Given the description of an element on the screen output the (x, y) to click on. 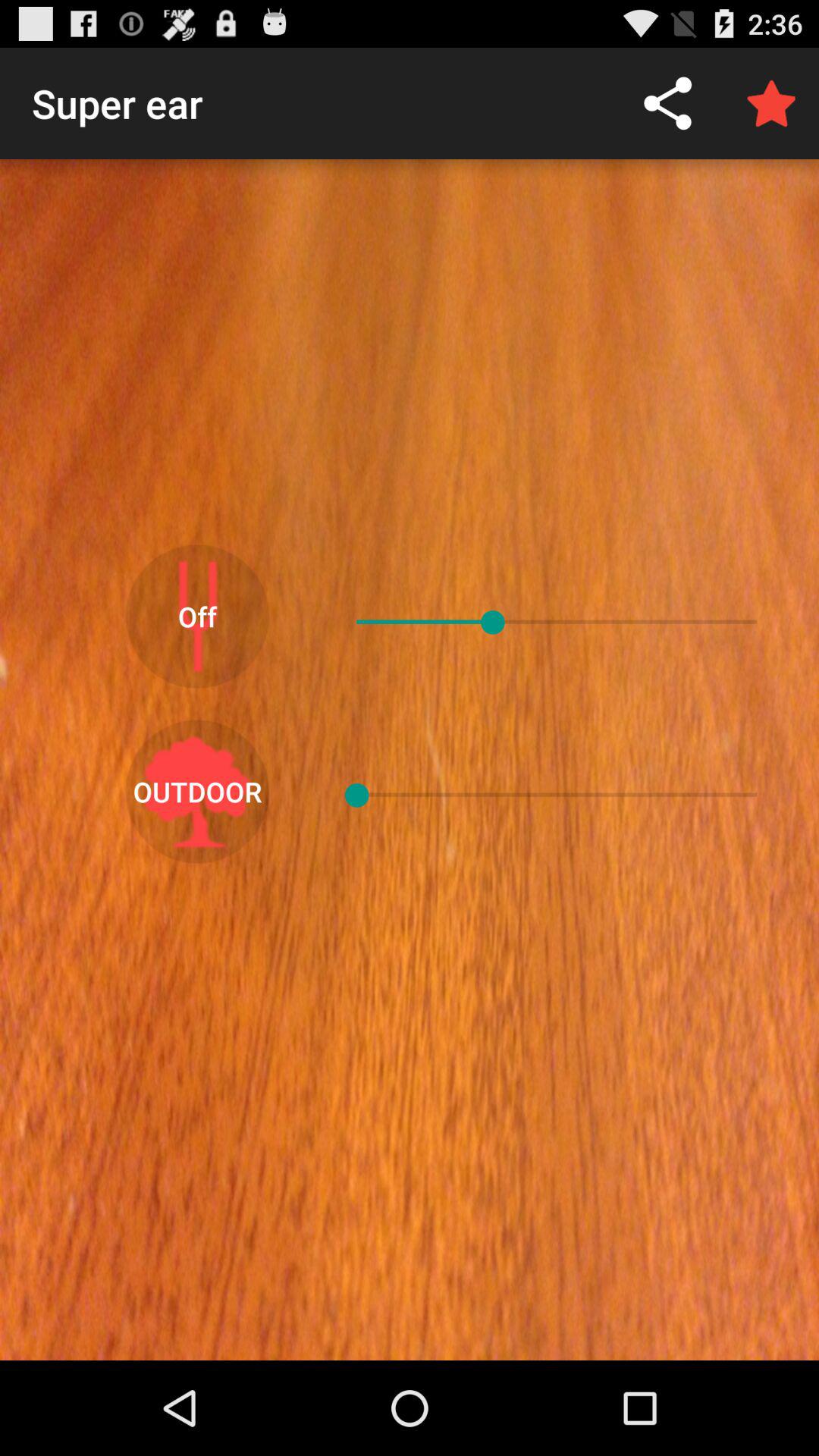
press the off item (196, 616)
